Given the description of an element on the screen output the (x, y) to click on. 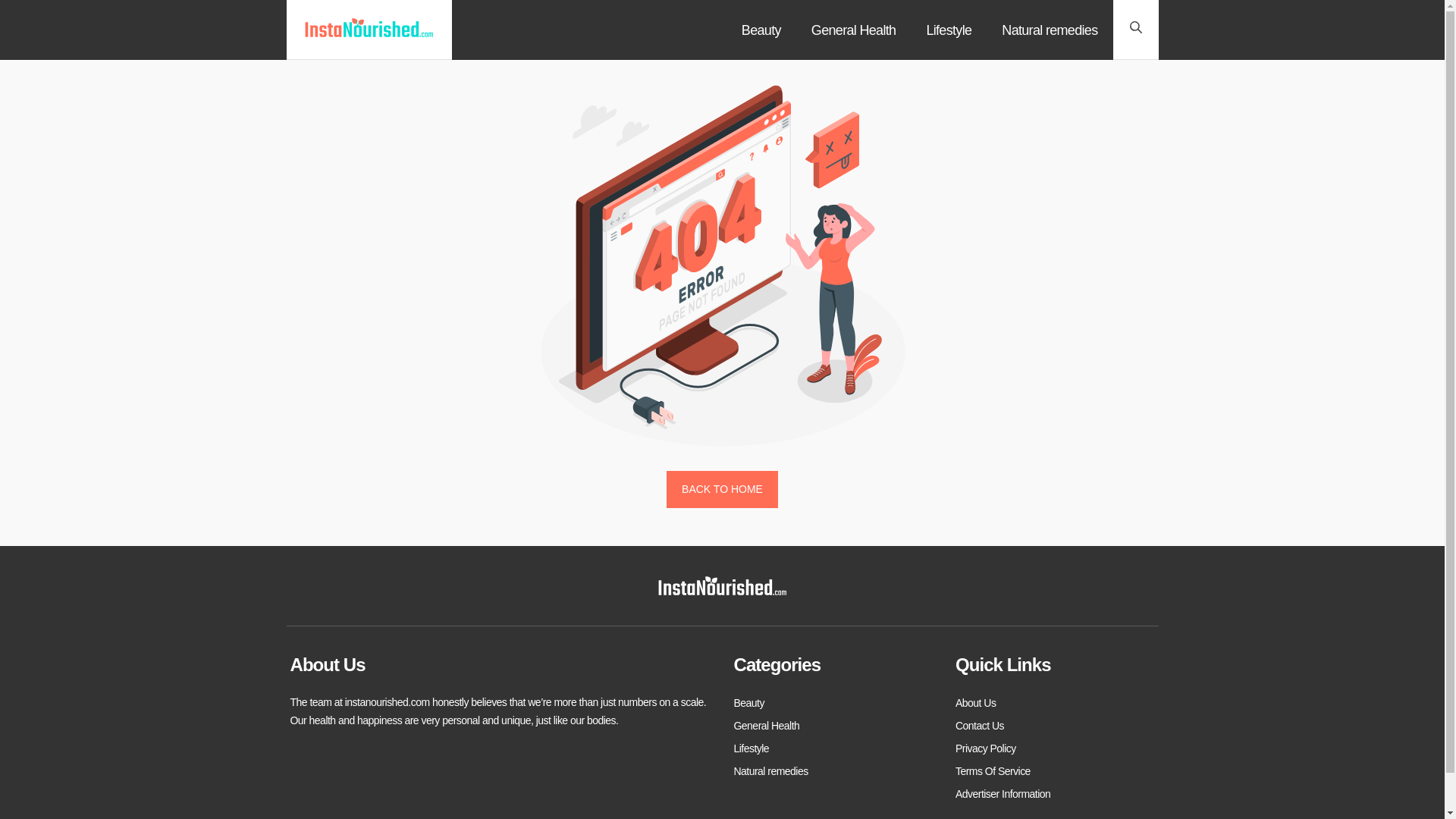
Natural remedies (770, 771)
About Us (975, 702)
BACK TO HOME (721, 489)
General Health (853, 29)
Lifestyle (751, 748)
Terms Of Service (992, 771)
Beauty (748, 702)
General Health (766, 725)
Contact Us (979, 725)
Advertiser Information (1002, 793)
